Given the description of an element on the screen output the (x, y) to click on. 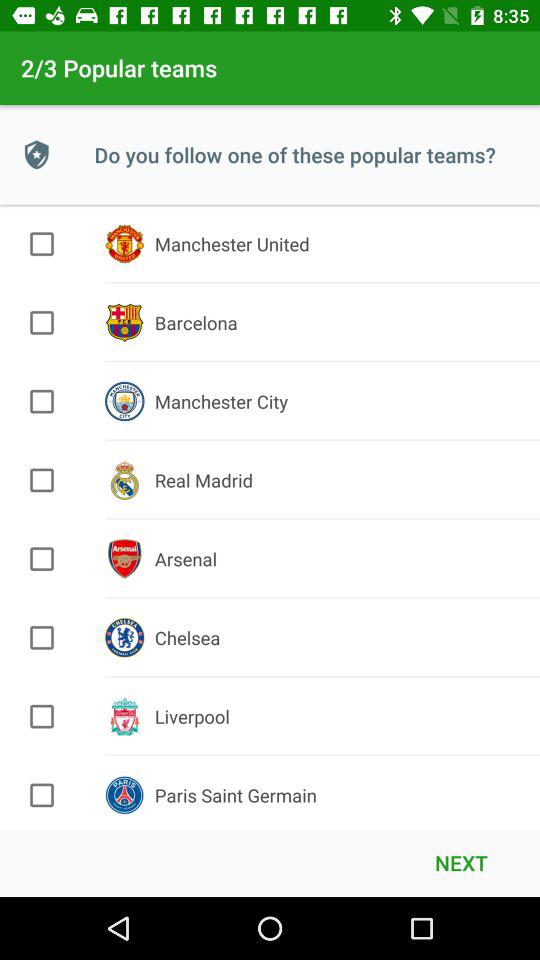
click here to choose paris saint germain (42, 795)
